Given the description of an element on the screen output the (x, y) to click on. 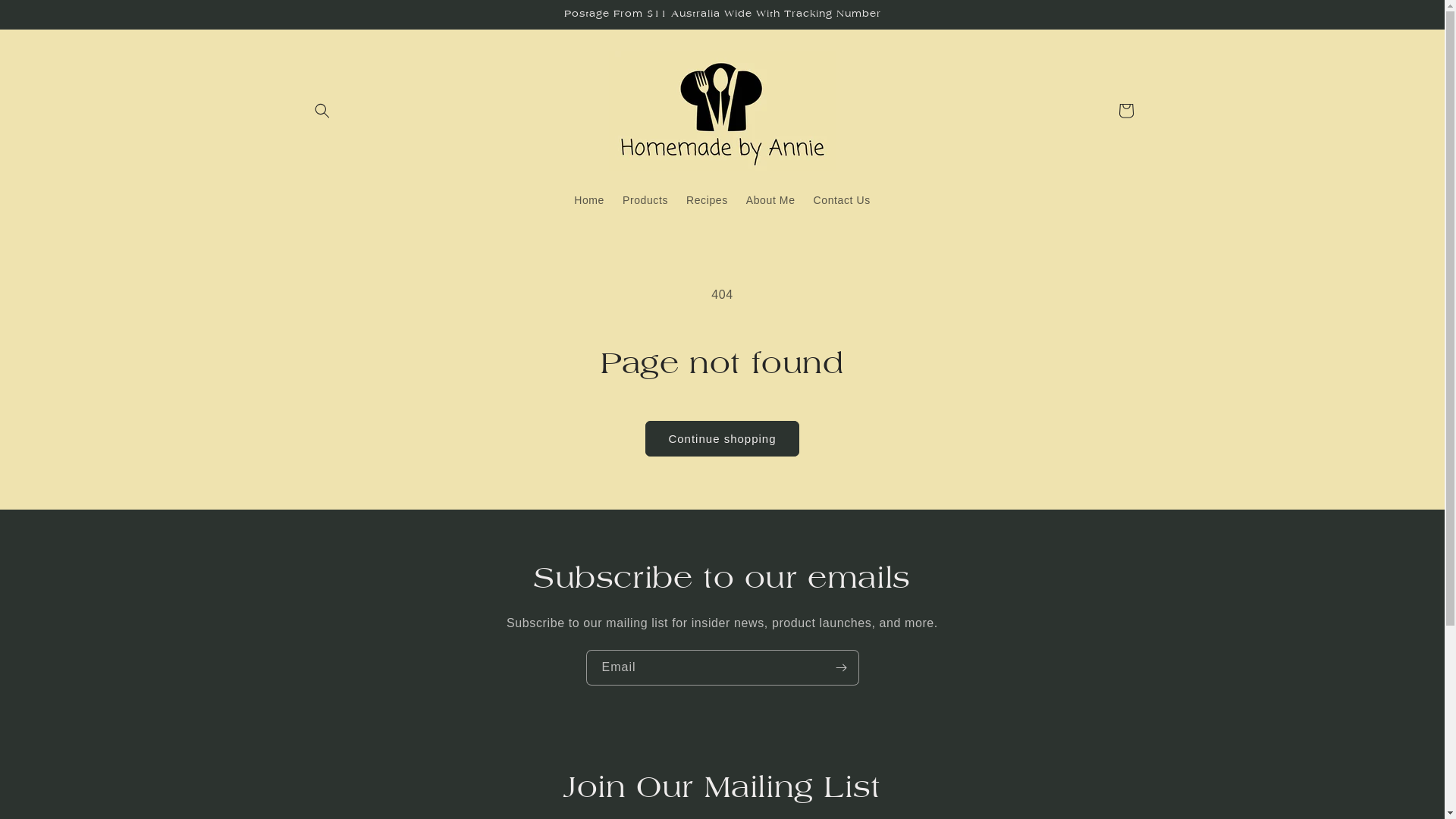
Products Element type: text (645, 199)
About Me Element type: text (770, 199)
Home Element type: text (588, 199)
Recipes Element type: text (707, 199)
Cart Element type: text (1125, 110)
Contact Us Element type: text (841, 199)
Continue shopping Element type: text (721, 438)
